Given the description of an element on the screen output the (x, y) to click on. 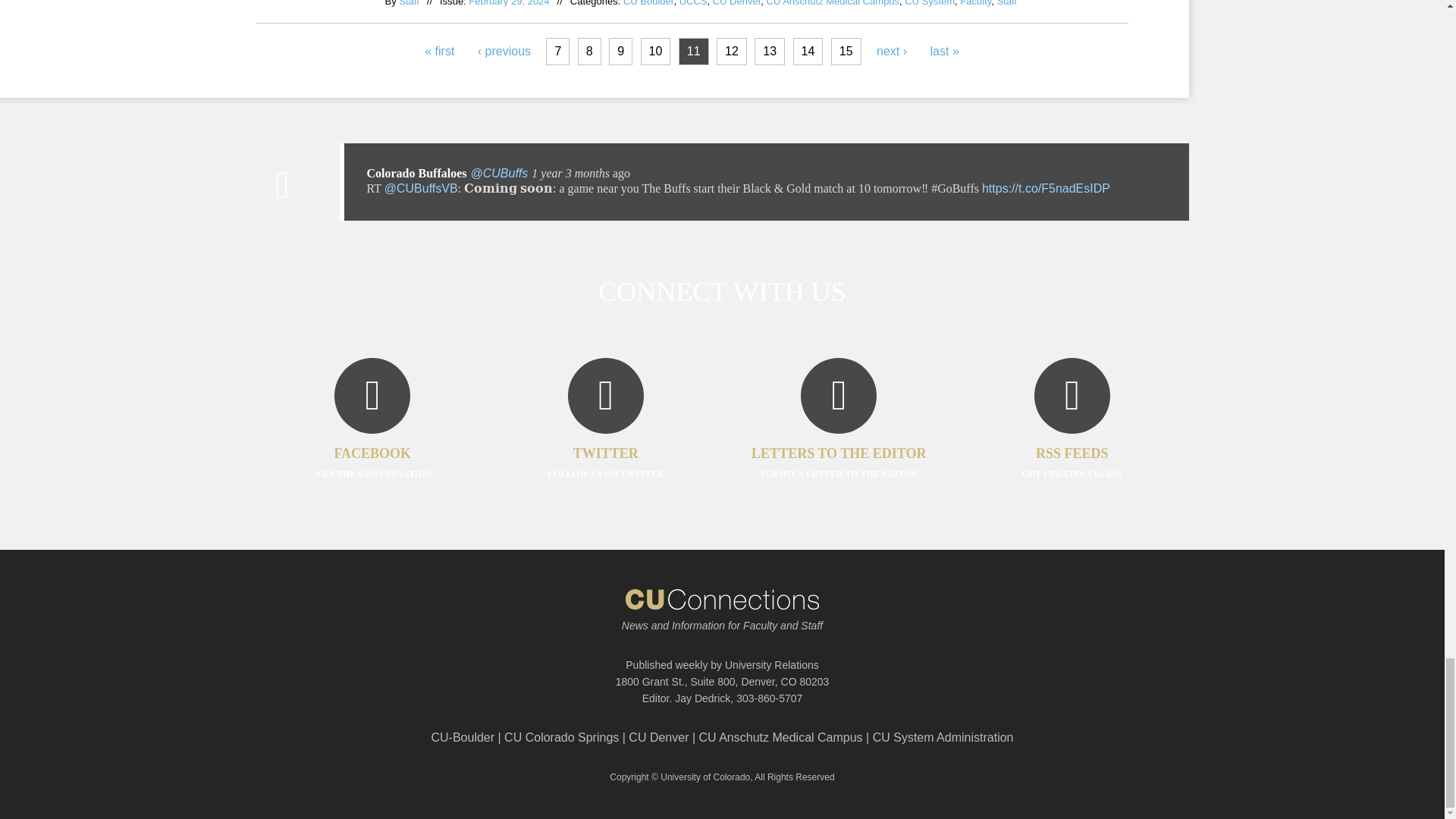
Get Updates Via RSS (1072, 440)
Go to page 14 (807, 51)
Go to previous page (504, 51)
Go to first page (438, 51)
Join the Conversation (372, 440)
Go to page 10 (655, 51)
Follow us on Twitter (605, 440)
Go to page 12 (731, 51)
Go to last page (944, 51)
Submit a Letter to the Editor (838, 440)
Go to page 13 (769, 51)
Go to next page (891, 51)
Go to page 15 (845, 51)
